Given the description of an element on the screen output the (x, y) to click on. 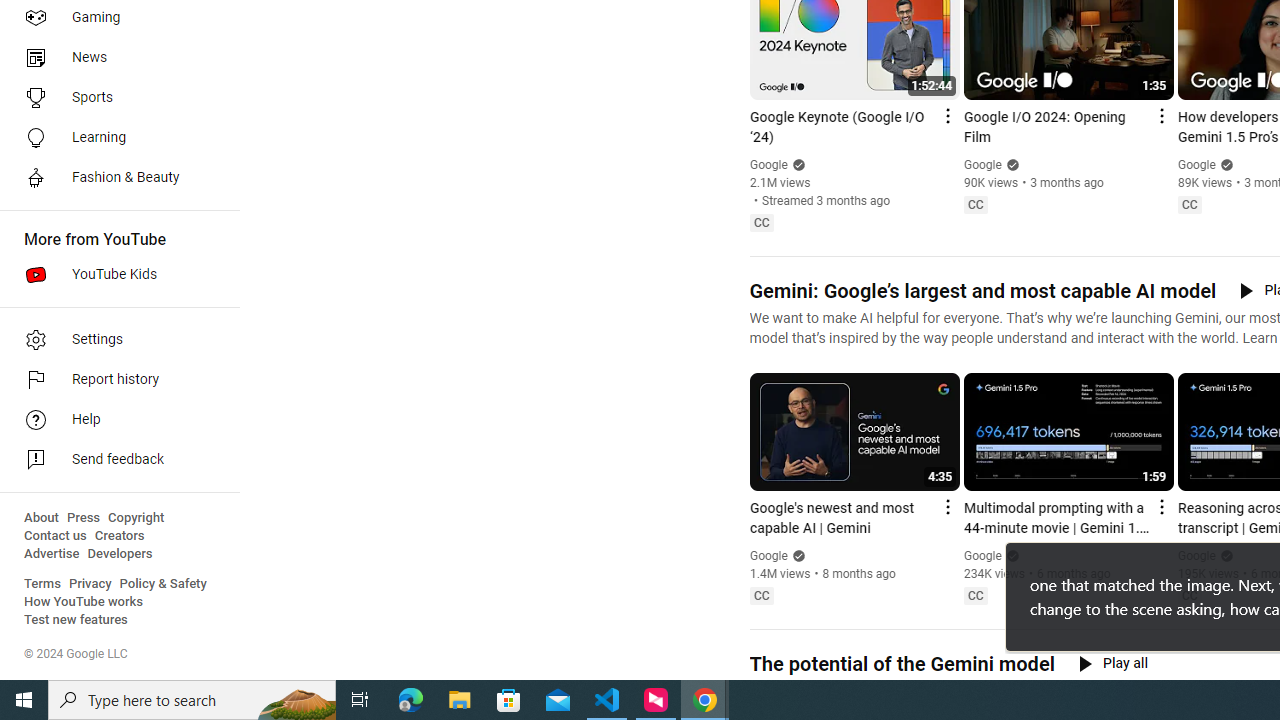
Google (1197, 556)
Send feedback (113, 459)
Policy & Safety (163, 584)
Copyright (136, 518)
Learning (113, 137)
Creators (118, 536)
Privacy (89, 584)
Sports (113, 97)
Closed captions (1189, 595)
YouTube Kids (113, 274)
Fashion & Beauty (113, 177)
Contact us (55, 536)
